Given the description of an element on the screen output the (x, y) to click on. 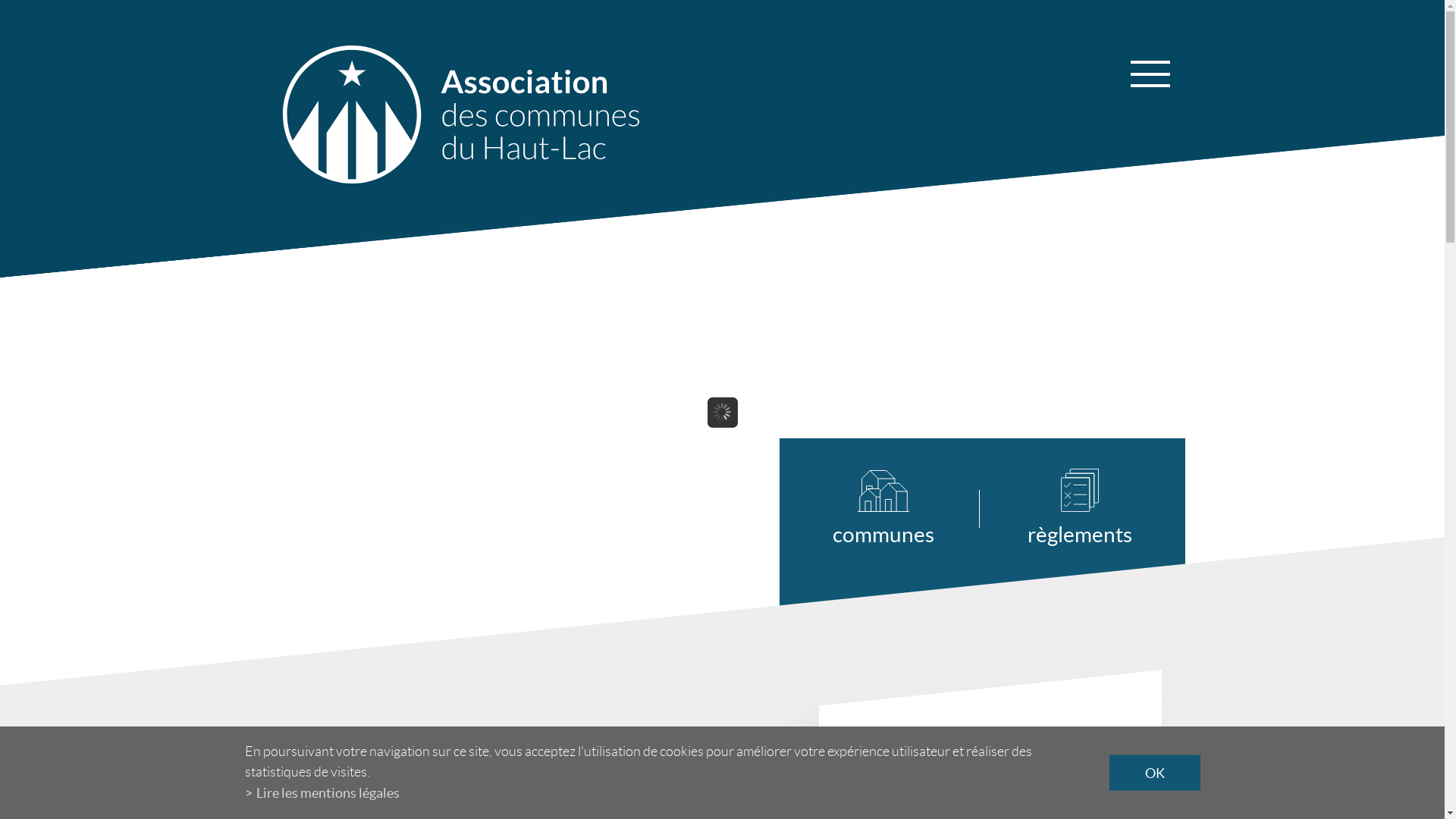
CONTACT Element type: text (1067, 268)
Service officiel de la curatelle Element type: text (532, 512)
communes Element type: text (905, 508)
Budgets Element type: text (710, 390)
SERVICES Element type: text (532, 268)
L'ASSOCIATION Element type: text (354, 268)
DOCUMENTS Element type: text (710, 268)
Centre secours et incendie Element type: text (532, 324)
Formulaires Element type: text (710, 361)
Police intercommunale du Haut-Lac Element type: text (532, 471)
Les commissions Element type: text (354, 443)
OK Element type: text (1153, 772)
Comptes Element type: text (710, 414)
Les communes Element type: text (354, 418)
